Given the description of an element on the screen output the (x, y) to click on. 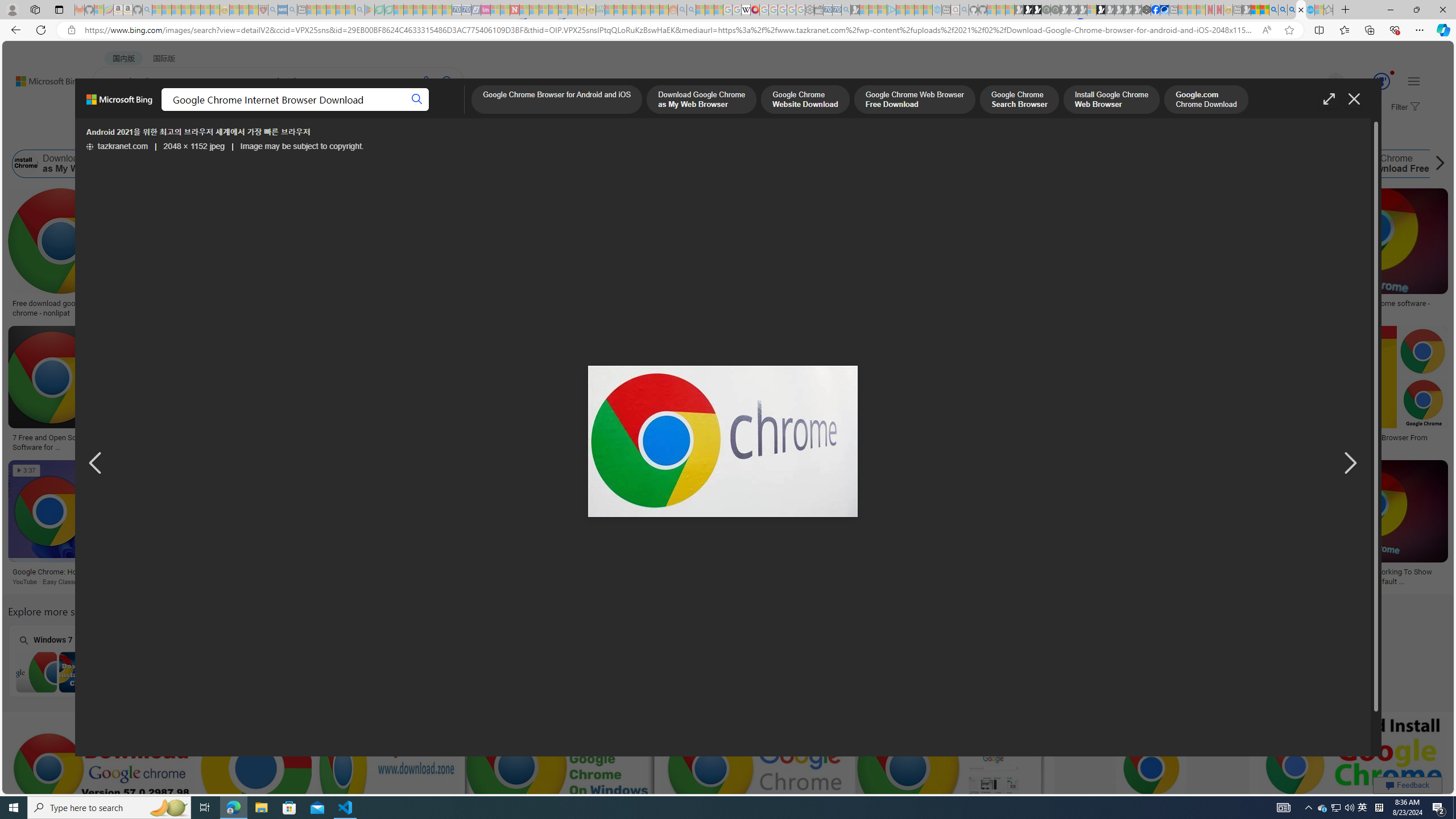
7 Free and Open Source Software for Windows PC | HubPages (51, 441)
Google Chrome Search Browser (523, 163)
Microsoft account | Privacy - Sleeping (882, 9)
How to download & install Chrome on Windows 10 /11 (994, 303)
github - Search - Sleeping (964, 9)
Google Chrome Website Download (180, 163)
Google Chrome Download The Fast Secure Browser From Google (1340, 442)
Address and search bar (669, 29)
